Given the description of an element on the screen output the (x, y) to click on. 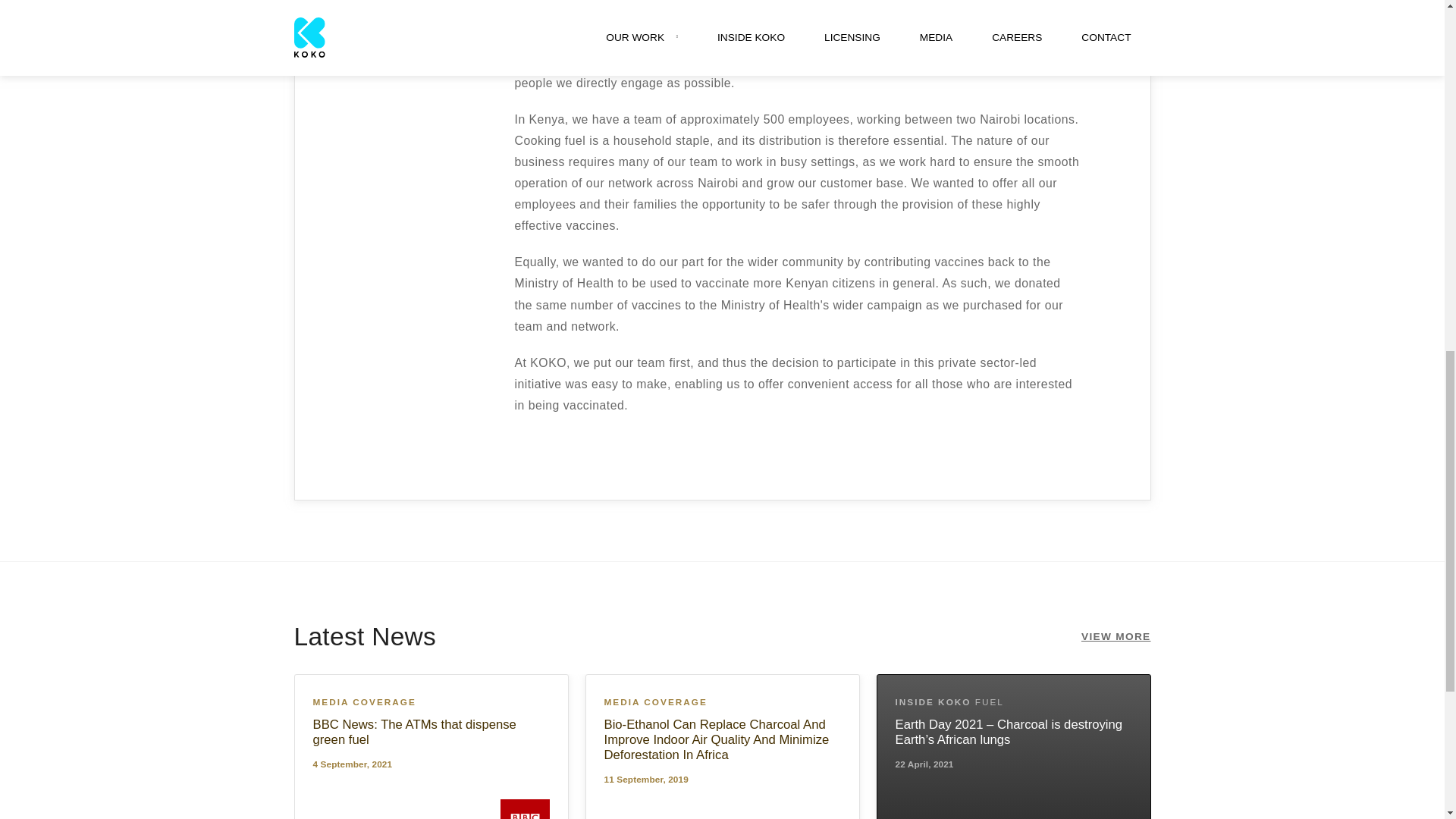
VIEW MORE (1116, 637)
